Given the description of an element on the screen output the (x, y) to click on. 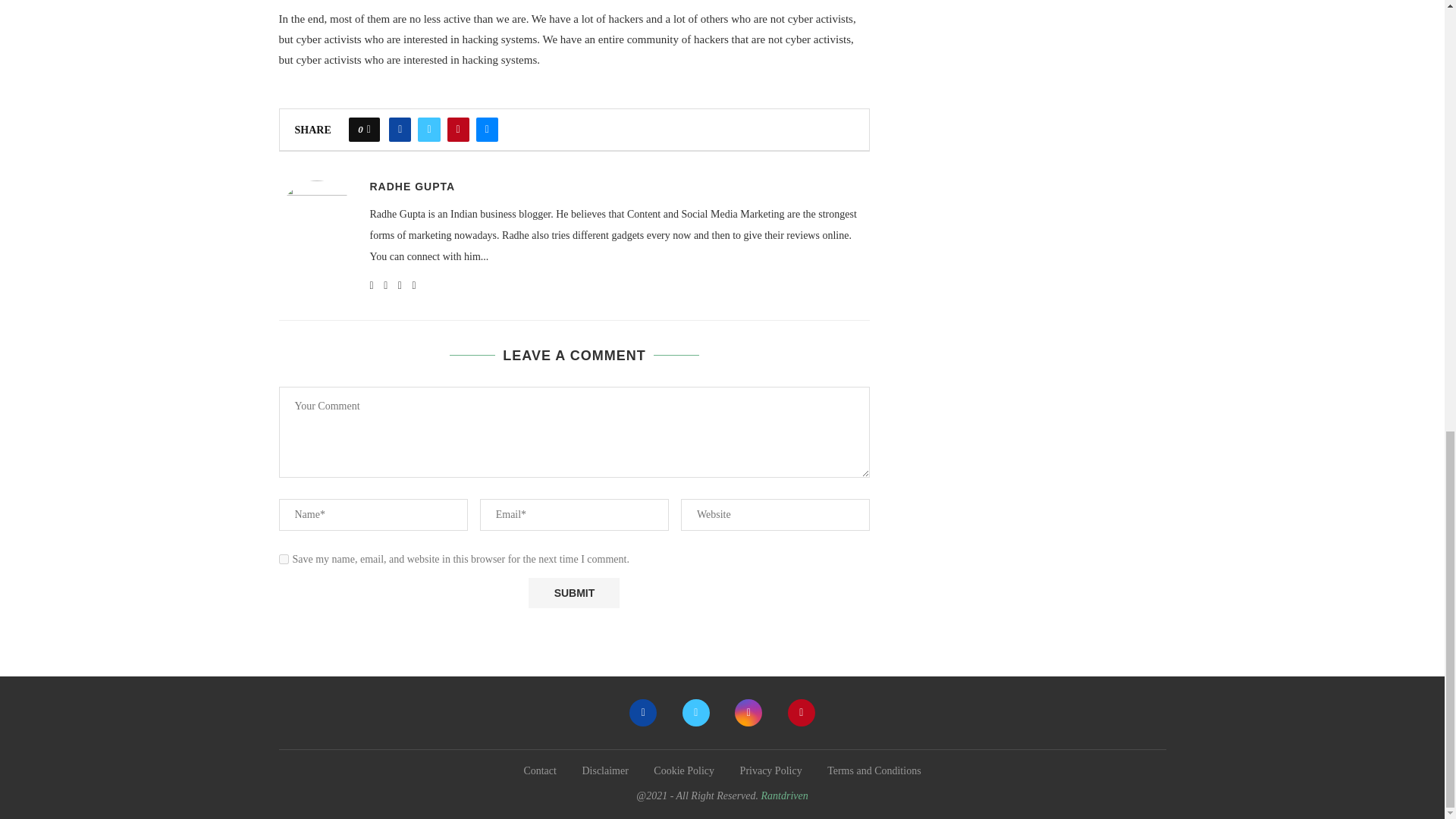
yes (283, 559)
Posts by Radhe Gupta (412, 186)
Submit (574, 593)
